Given the description of an element on the screen output the (x, y) to click on. 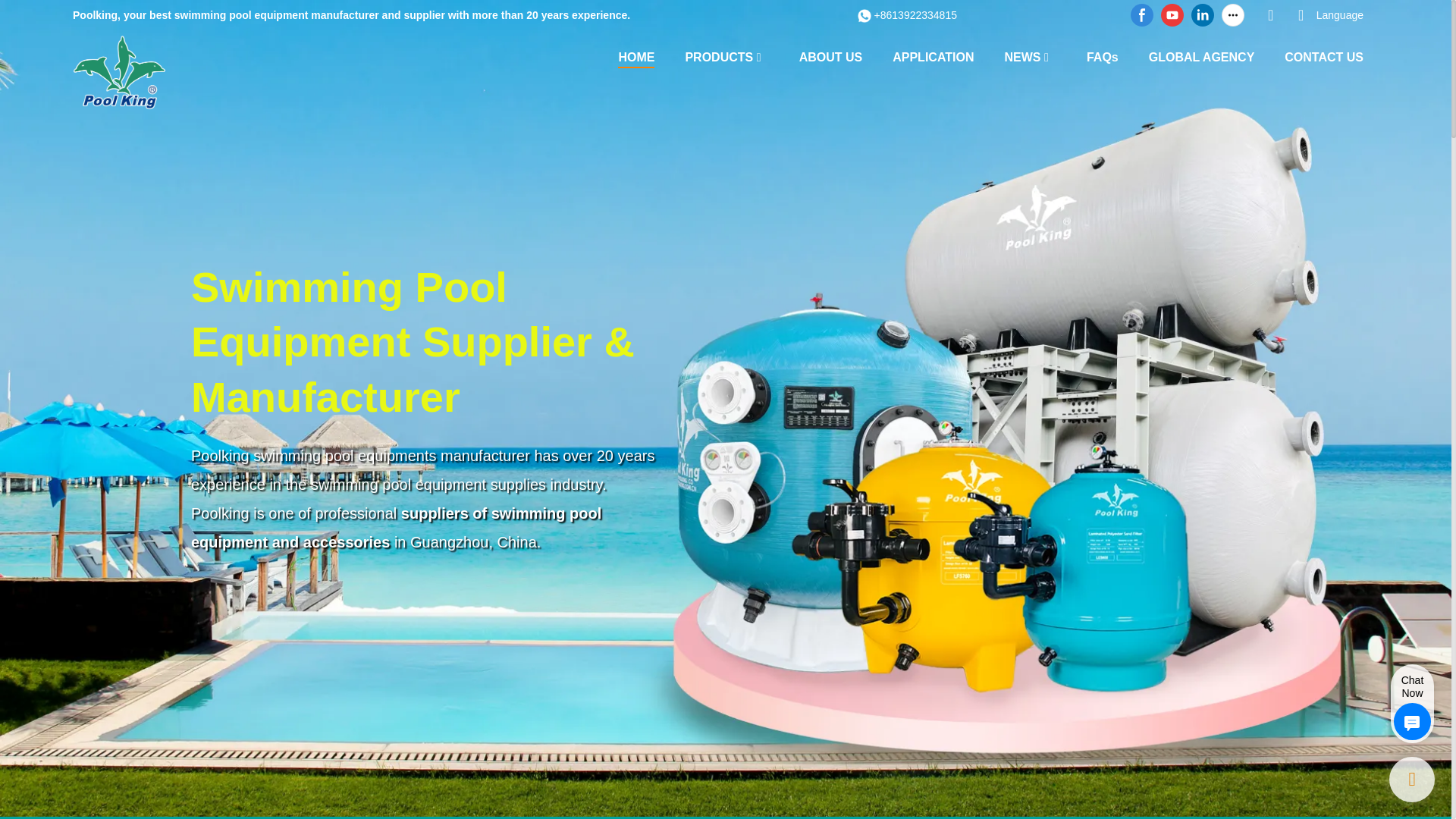
HOME (635, 57)
PRODUCTS (718, 56)
linkedin (1202, 15)
facebook (1141, 15)
youtube (1172, 15)
